Given the description of an element on the screen output the (x, y) to click on. 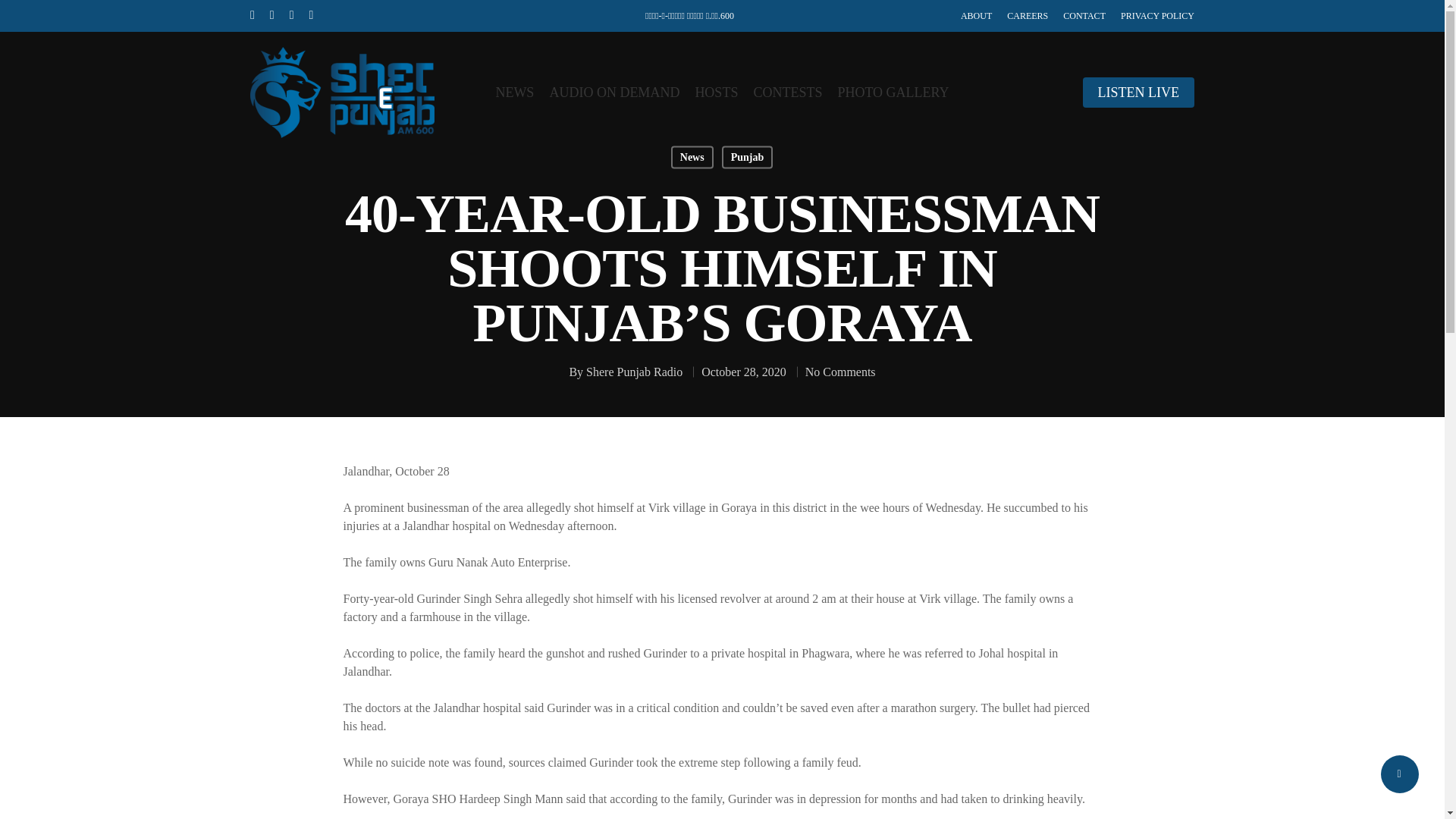
PRIVACY POLICY (1157, 15)
AUDIO ON DEMAND (613, 92)
CAREERS (1027, 15)
CONTESTS (787, 92)
NEWS (514, 92)
No Comments (840, 371)
CONTACT (1083, 15)
Shere Punjab Radio (634, 371)
News (692, 156)
Posts by Shere Punjab Radio (634, 371)
LISTEN LIVE (1138, 92)
Punjab (747, 156)
ABOUT (975, 15)
HOSTS (716, 92)
PHOTO GALLERY (893, 92)
